Given the description of an element on the screen output the (x, y) to click on. 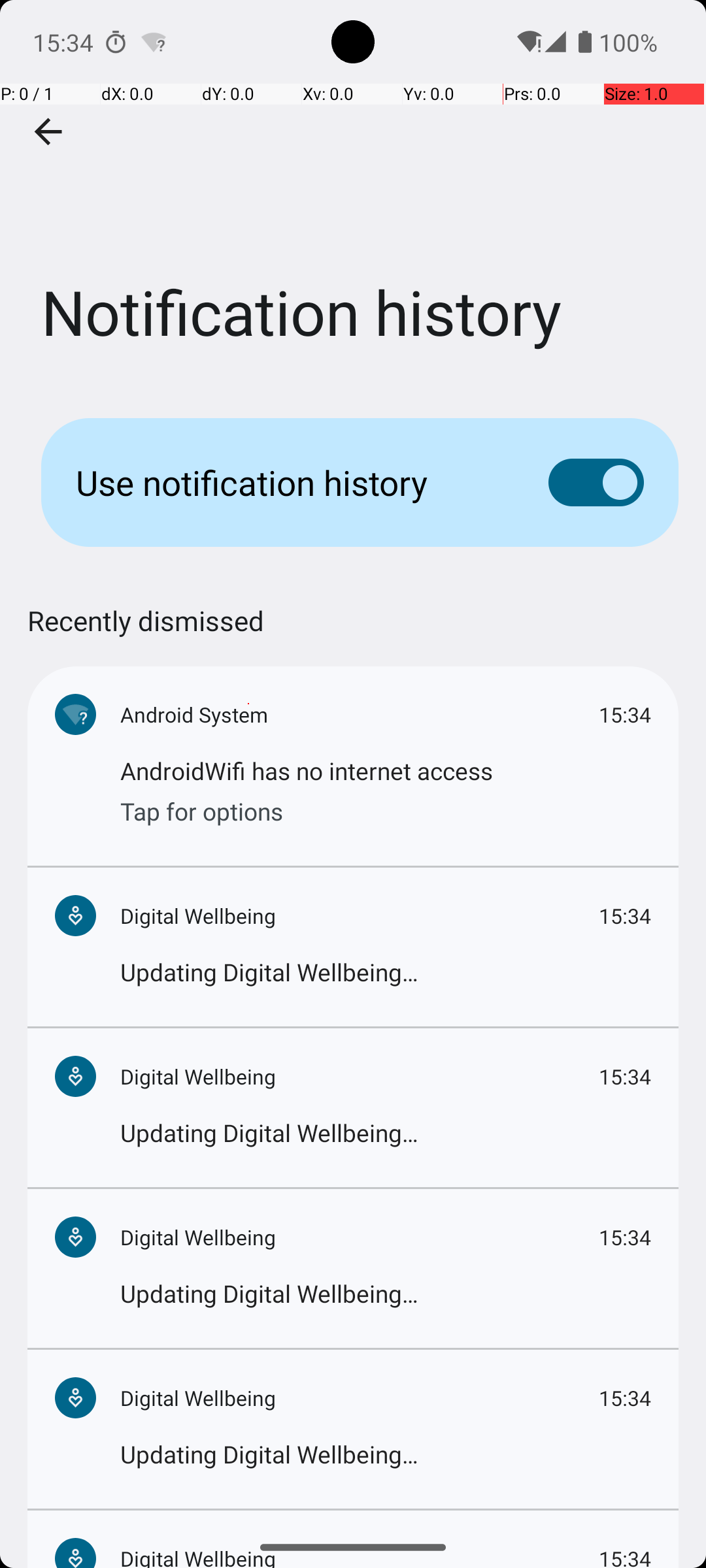
Recently dismissed Element type: android.widget.TextView (145, 633)
Android System Element type: android.widget.TextView (359, 714)
AndroidWifi has no internet access Element type: android.widget.TextView (385, 770)
Tap for options Element type: android.widget.TextView (385, 807)
Updating Digital Wellbeing… Element type: android.widget.TextView (385, 971)
